Given the description of an element on the screen output the (x, y) to click on. 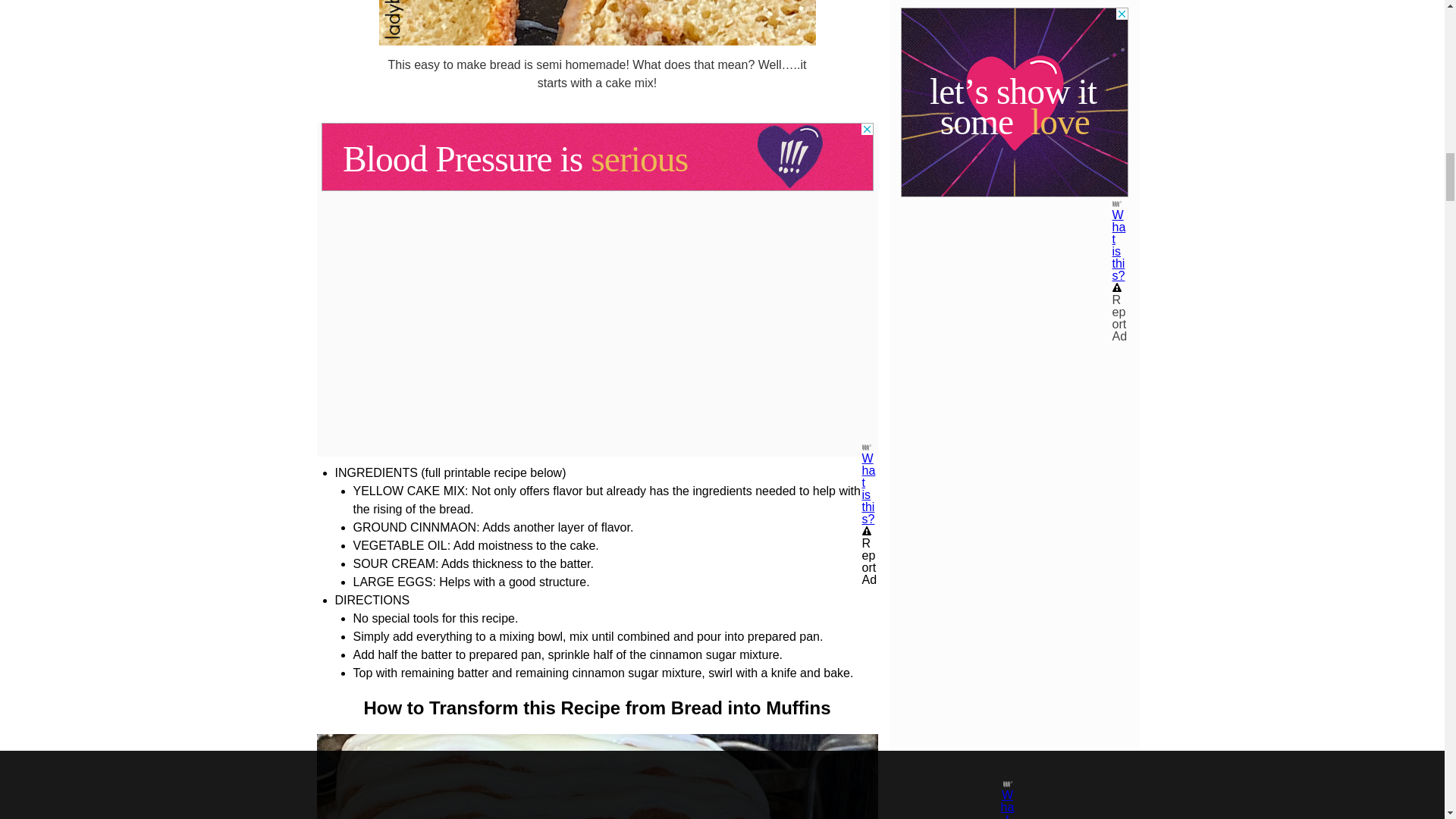
3rd party ad content (597, 156)
